Given the description of an element on the screen output the (x, y) to click on. 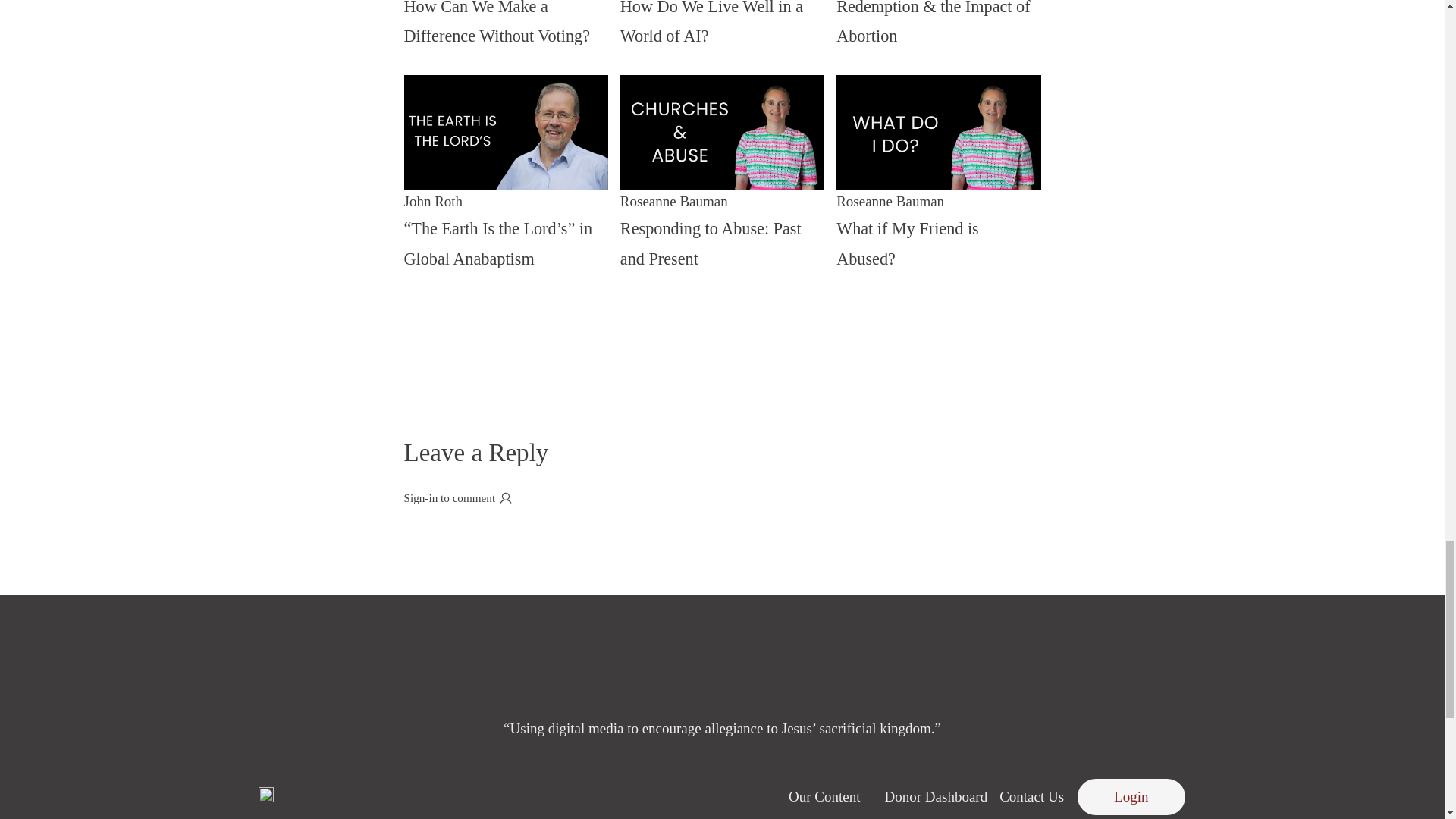
Login (1130, 796)
Donor Dashboard (722, 197)
Our Content (936, 796)
Sign-in to comment (722, 25)
Contact Us (824, 796)
